Given the description of an element on the screen output the (x, y) to click on. 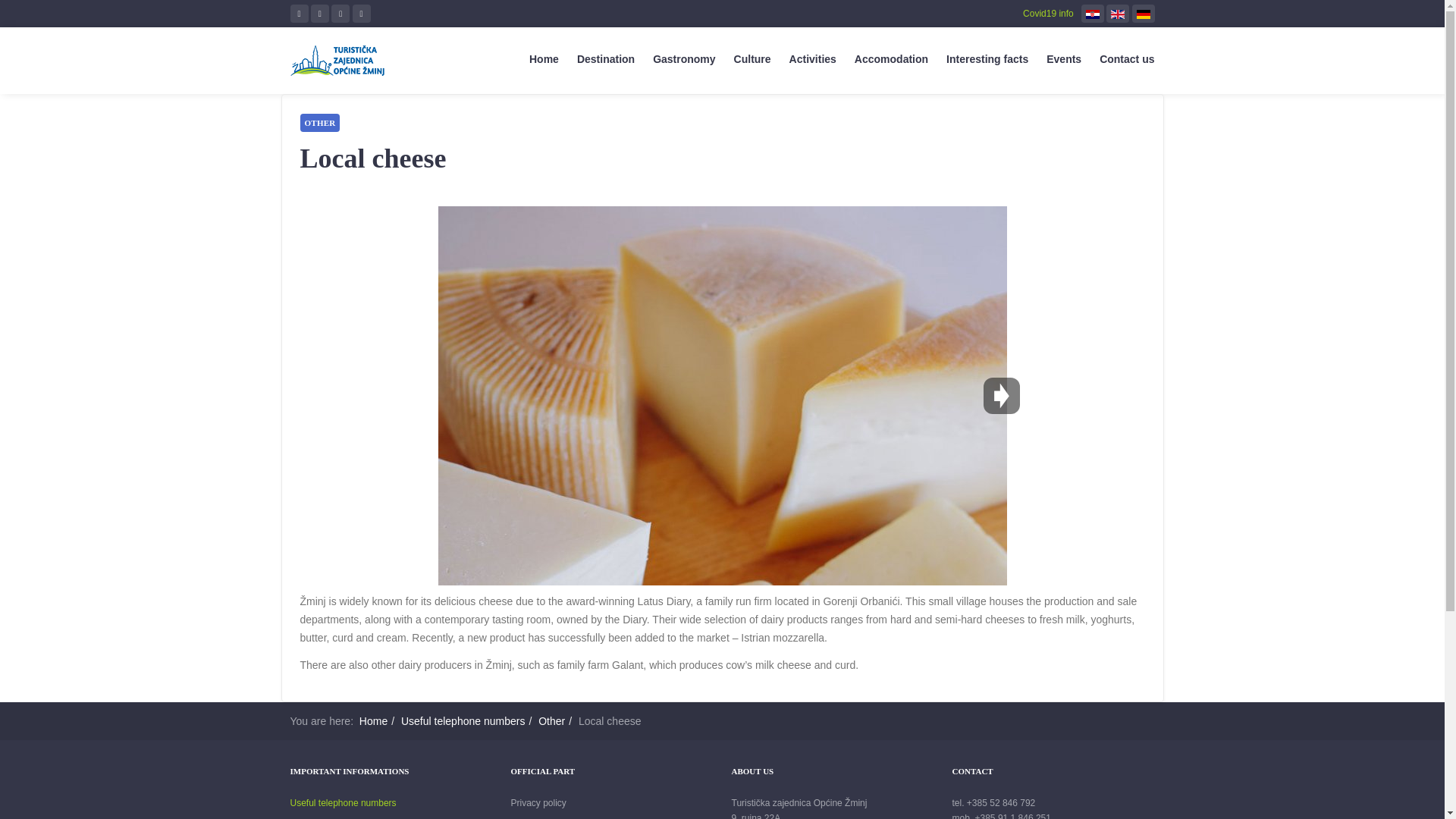
Events (1054, 58)
Gastronomy (674, 58)
twitter (320, 13)
facebook (298, 13)
Local cheese (372, 158)
instagram (340, 13)
Home (535, 58)
Local cheese (372, 158)
Covid19 info (1048, 13)
Culture (743, 58)
